Given the description of an element on the screen output the (x, y) to click on. 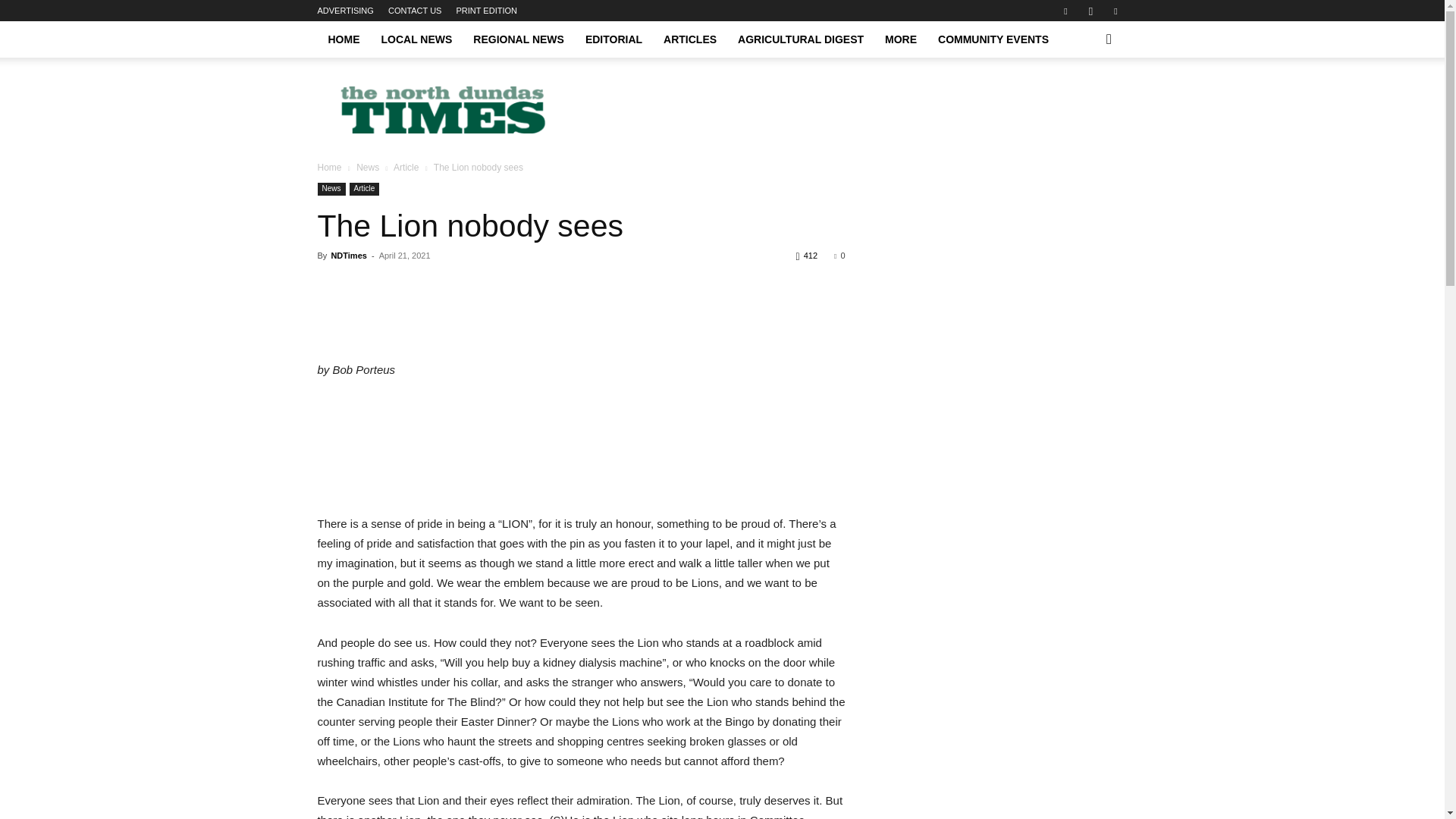
LOCAL NEWS (416, 39)
HOME (343, 39)
ARTICLES (689, 39)
REGIONAL NEWS (519, 39)
PRINT EDITION (486, 10)
View all posts in News (367, 167)
CONTACT US (415, 10)
Twitter (1114, 10)
Facebook (1065, 10)
EDITORIAL (613, 39)
